Given the description of an element on the screen output the (x, y) to click on. 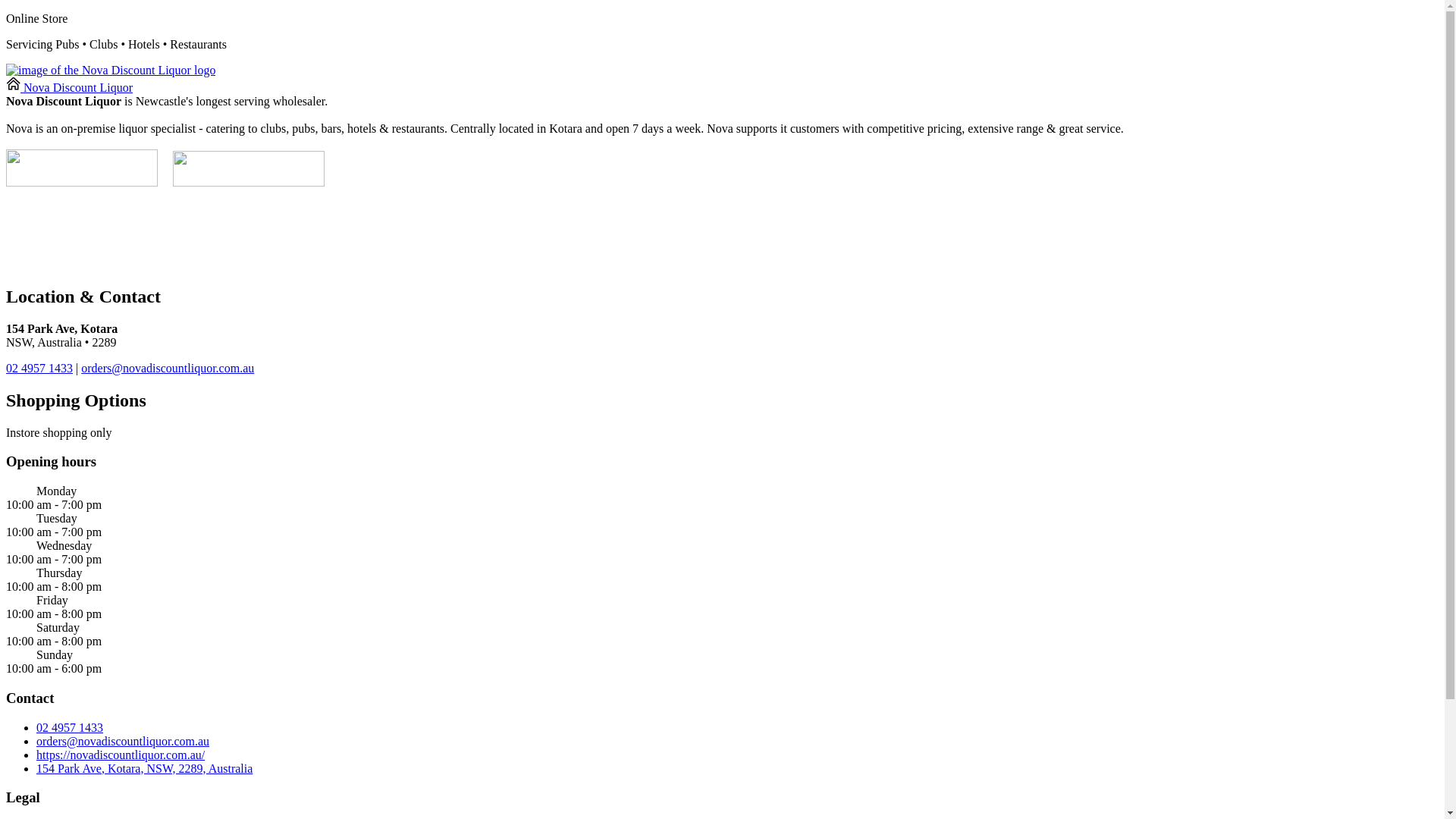
02 4957 1433 Element type: text (69, 726)
154 Park Ave, Kotara, NSW, 2289, Australia Element type: text (144, 767)
orders@novadiscountliquor.com.au Element type: text (122, 740)
Nova Discount Liquor Element type: text (69, 87)
orders@novadiscountliquor.com.au Element type: text (167, 367)
https://novadiscountliquor.com.au/ Element type: text (120, 753)
image of the Nova Discount Liquor logo Element type: hover (110, 70)
02 4957 1433 Element type: text (39, 367)
